Given the description of an element on the screen output the (x, y) to click on. 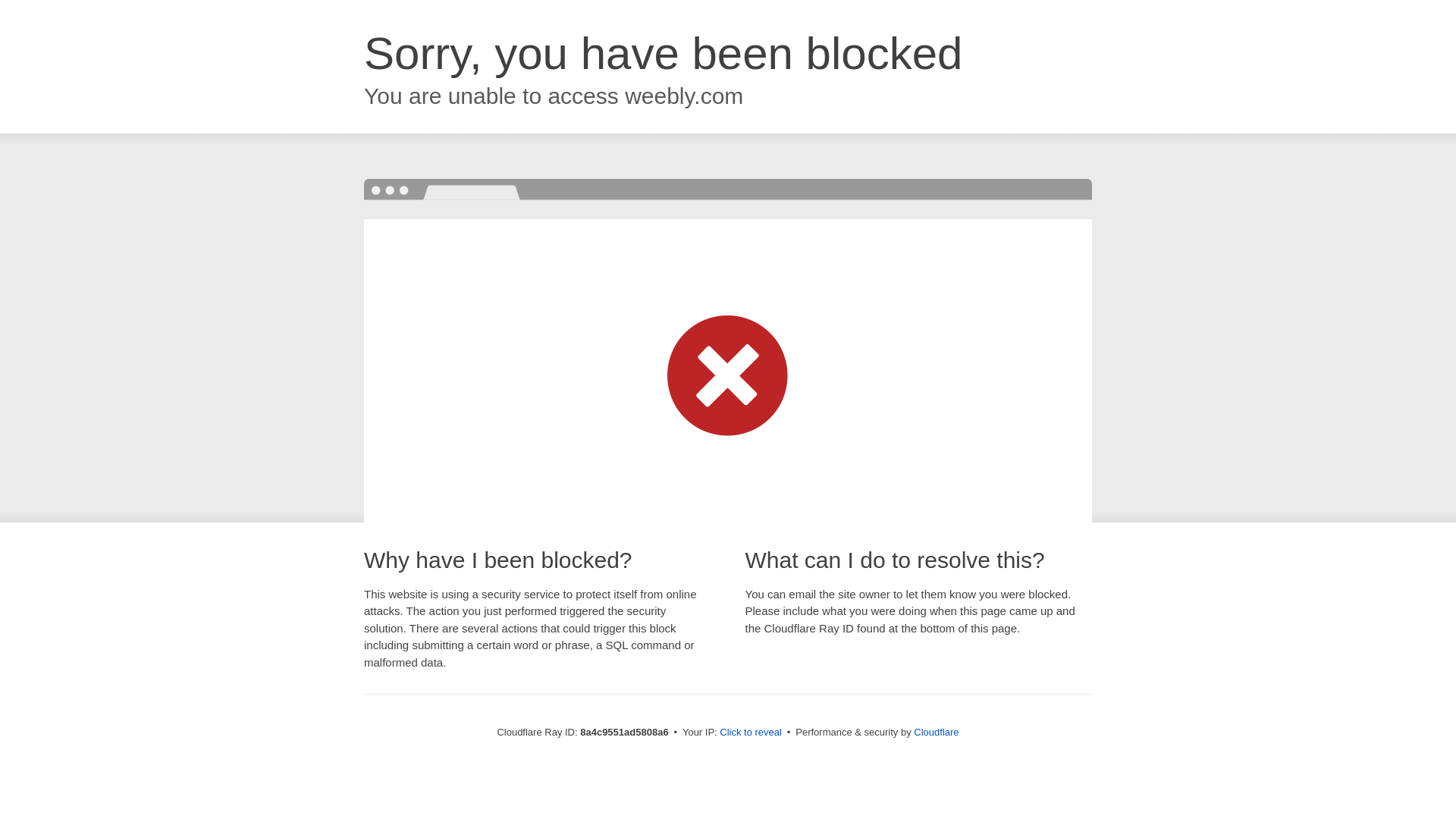
Click to reveal (750, 732)
Cloudflare (936, 731)
